Given the description of an element on the screen output the (x, y) to click on. 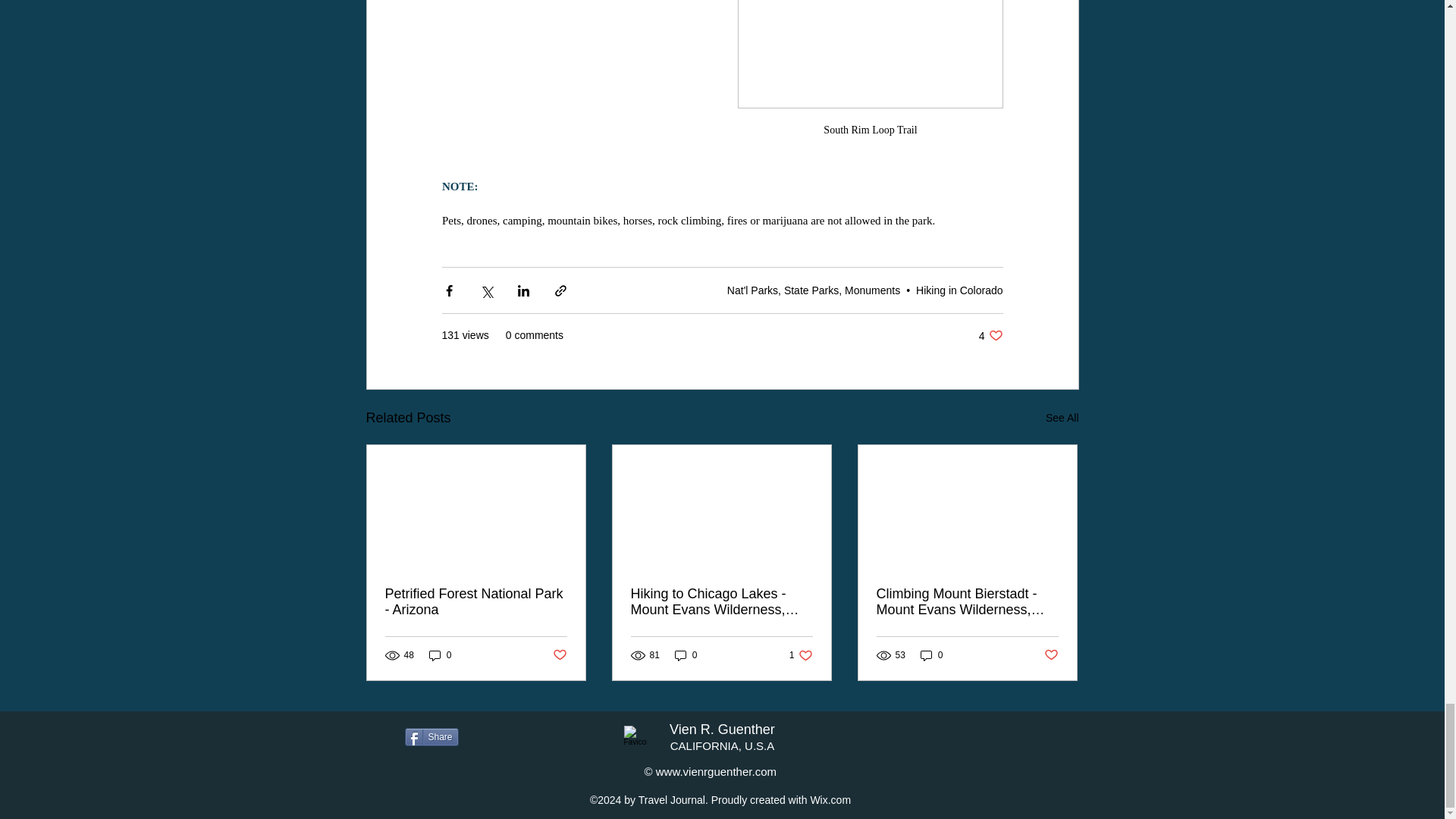
Share (800, 654)
Post not marked as liked (431, 737)
Post not marked as liked (1050, 655)
Climbing Mount Bierstadt - Mount Evans Wilderness, Colorado (558, 655)
Hiking to Chicago Lakes - Mount Evans Wilderness, Colorado (967, 602)
Hiking in Colorado (721, 602)
0 (959, 289)
Facebook Like (440, 654)
Share (424, 788)
